Given the description of an element on the screen output the (x, y) to click on. 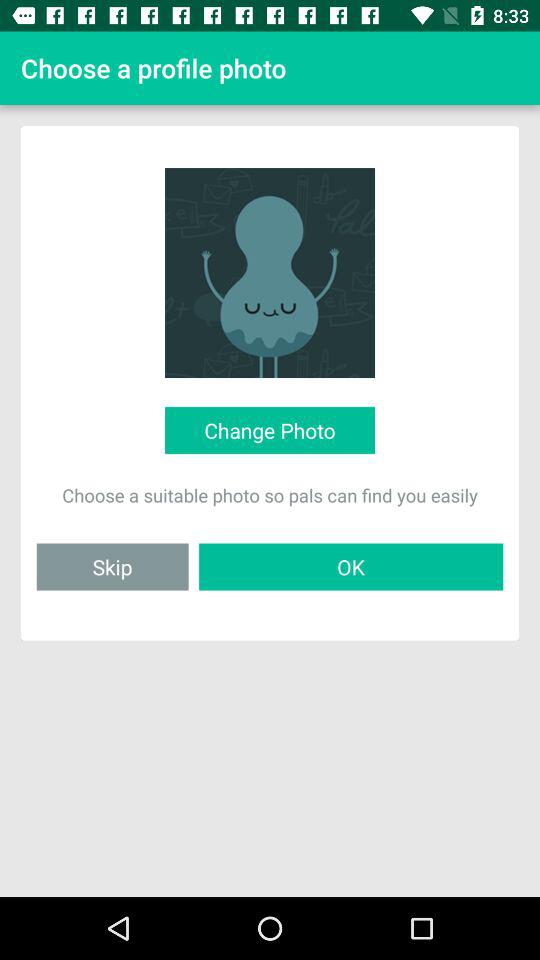
turn off icon next to the ok (112, 566)
